Given the description of an element on the screen output the (x, y) to click on. 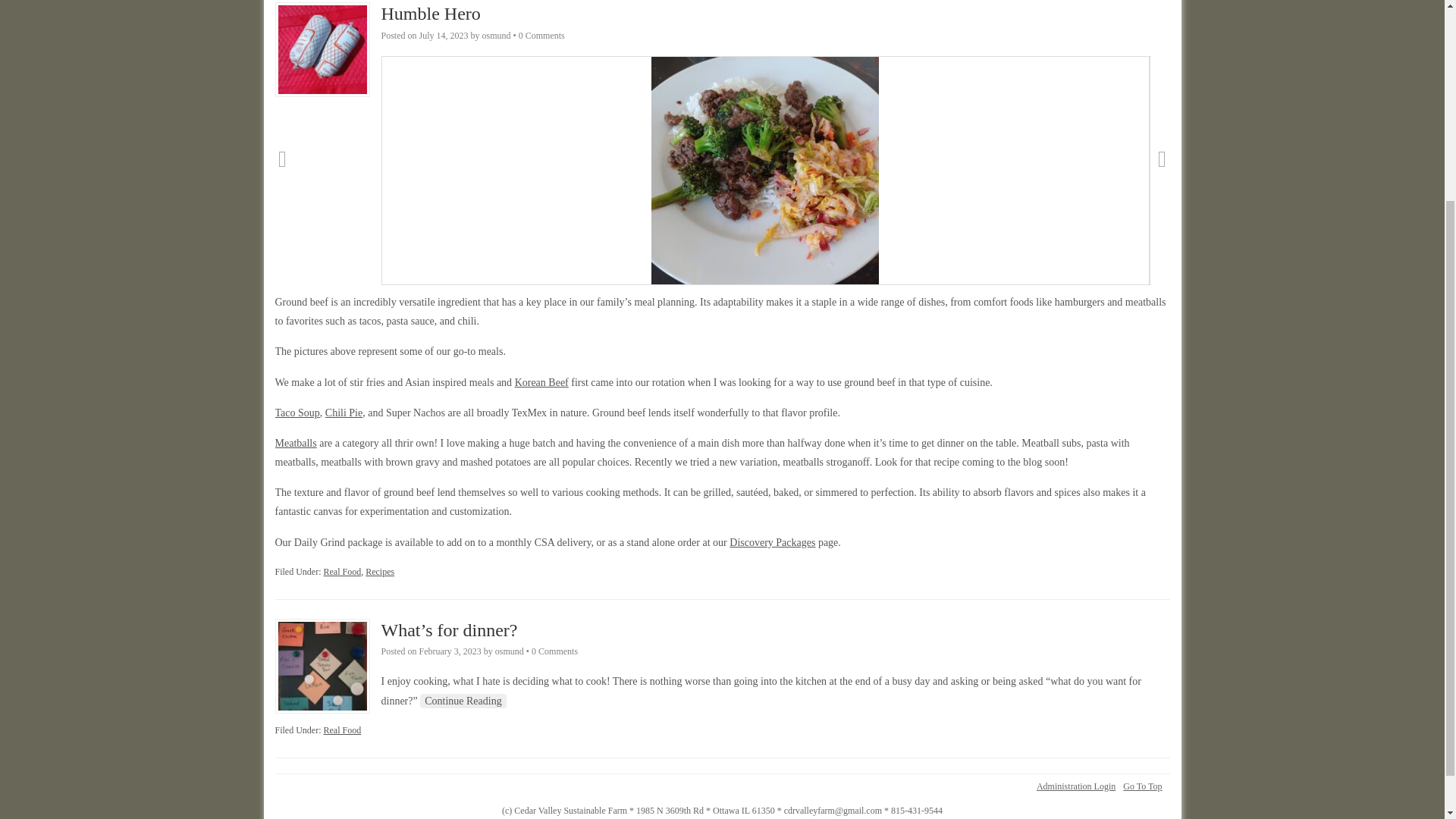
View all posts by osmund (496, 35)
osmund (496, 35)
0 Comments (541, 35)
View all posts by osmund (509, 651)
Humble Hero (430, 13)
Humble Hero (430, 13)
